Given the description of an element on the screen output the (x, y) to click on. 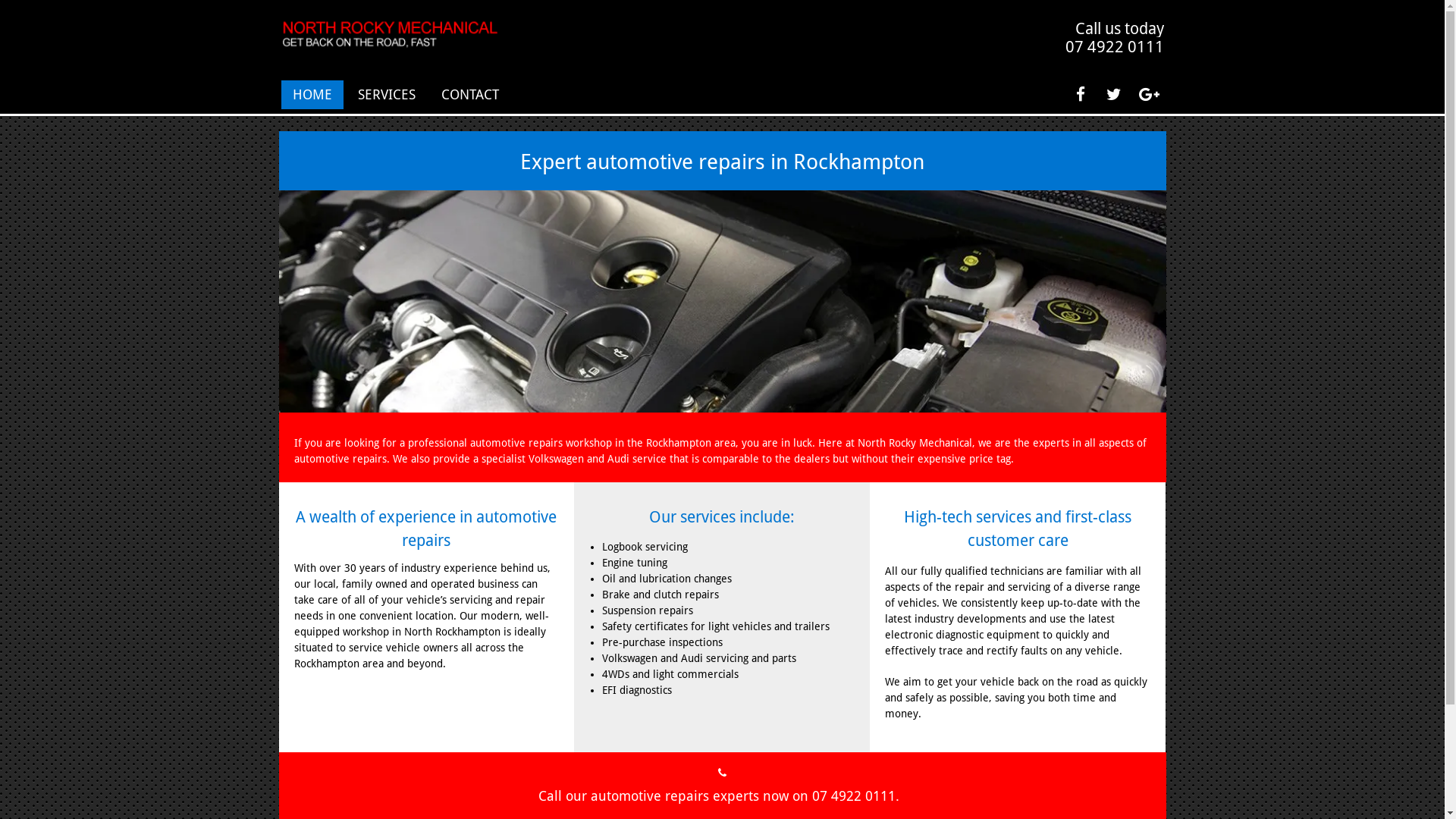
07 4922 0111 Element type: text (1113, 46)
north rocky mechanical new engine Element type: hover (722, 301)
07 4922 0111 Element type: text (852, 795)
HOME Element type: text (312, 94)
SERVICES Element type: text (386, 94)
north rocky mechanical logo Element type: hover (389, 34)
CONTACT Element type: text (469, 94)
